Given the description of an element on the screen output the (x, y) to click on. 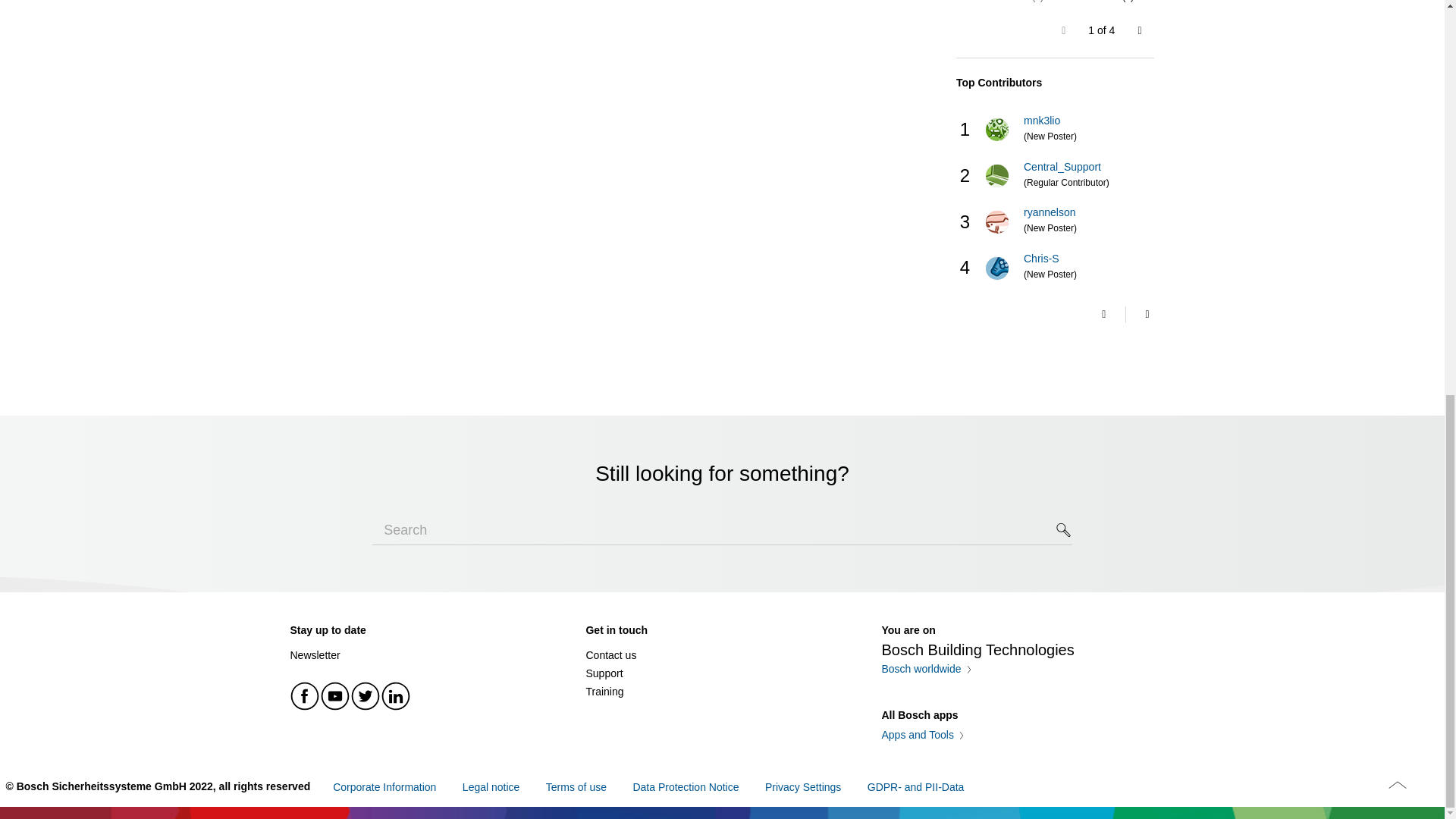
ryannelson (997, 221)
Facebook (304, 695)
Twitter (365, 695)
Icon up (1397, 784)
Linkedin (395, 695)
mnk3lio (997, 128)
Icon search (1064, 529)
Youtube (335, 695)
